Given the description of an element on the screen output the (x, y) to click on. 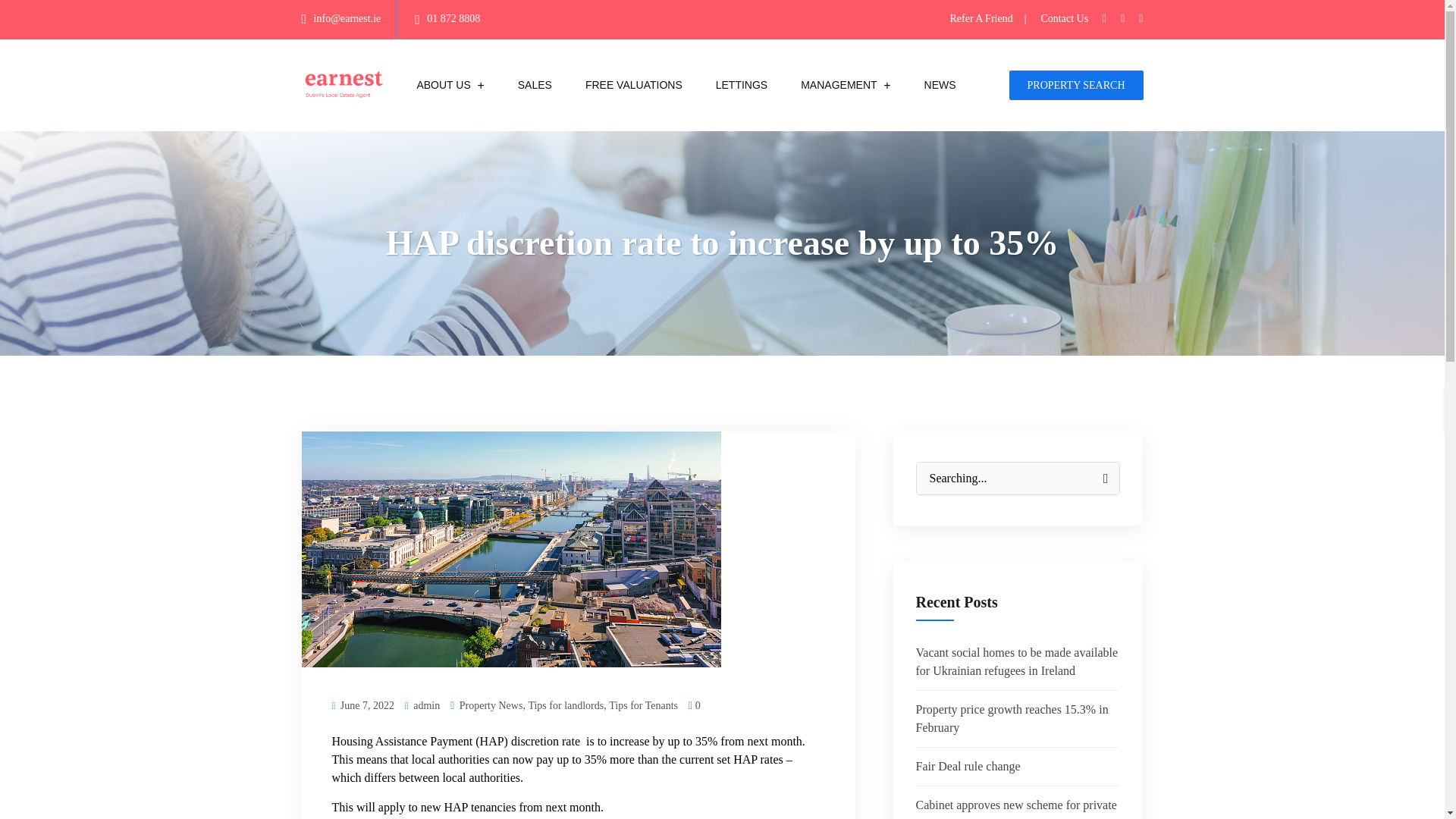
FREE VALUATIONS (633, 84)
ABOUT US (443, 84)
01 872 8808 (453, 18)
SALES (534, 84)
Refer A Friend (987, 18)
Contact Us (1064, 18)
